Given the description of an element on the screen output the (x, y) to click on. 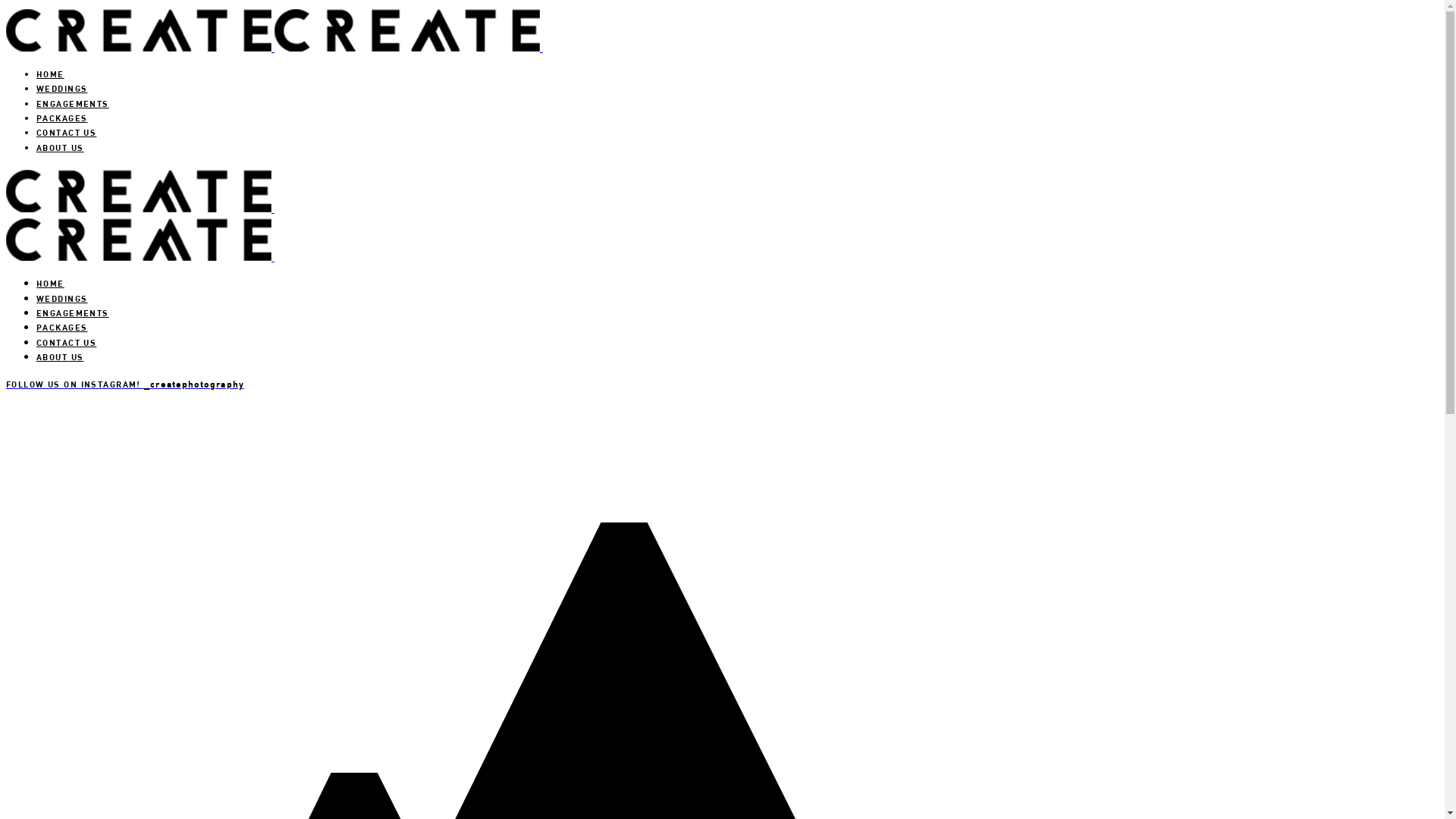
FOLLOW US ON INSTAGRAM! _createphotography Element type: text (125, 382)
HOME Element type: text (50, 282)
CONTACT US Element type: text (66, 132)
PACKAGES Element type: text (61, 117)
CONTACT US Element type: text (66, 342)
WEDDINGS Element type: text (61, 88)
HOME Element type: text (50, 73)
ENGAGEMENTS Element type: text (72, 312)
WEDDINGS Element type: text (61, 298)
PACKAGES Element type: text (61, 326)
ABOUT US Element type: text (59, 356)
ABOUT US Element type: text (59, 147)
ENGAGEMENTS Element type: text (72, 103)
